Given the description of an element on the screen output the (x, y) to click on. 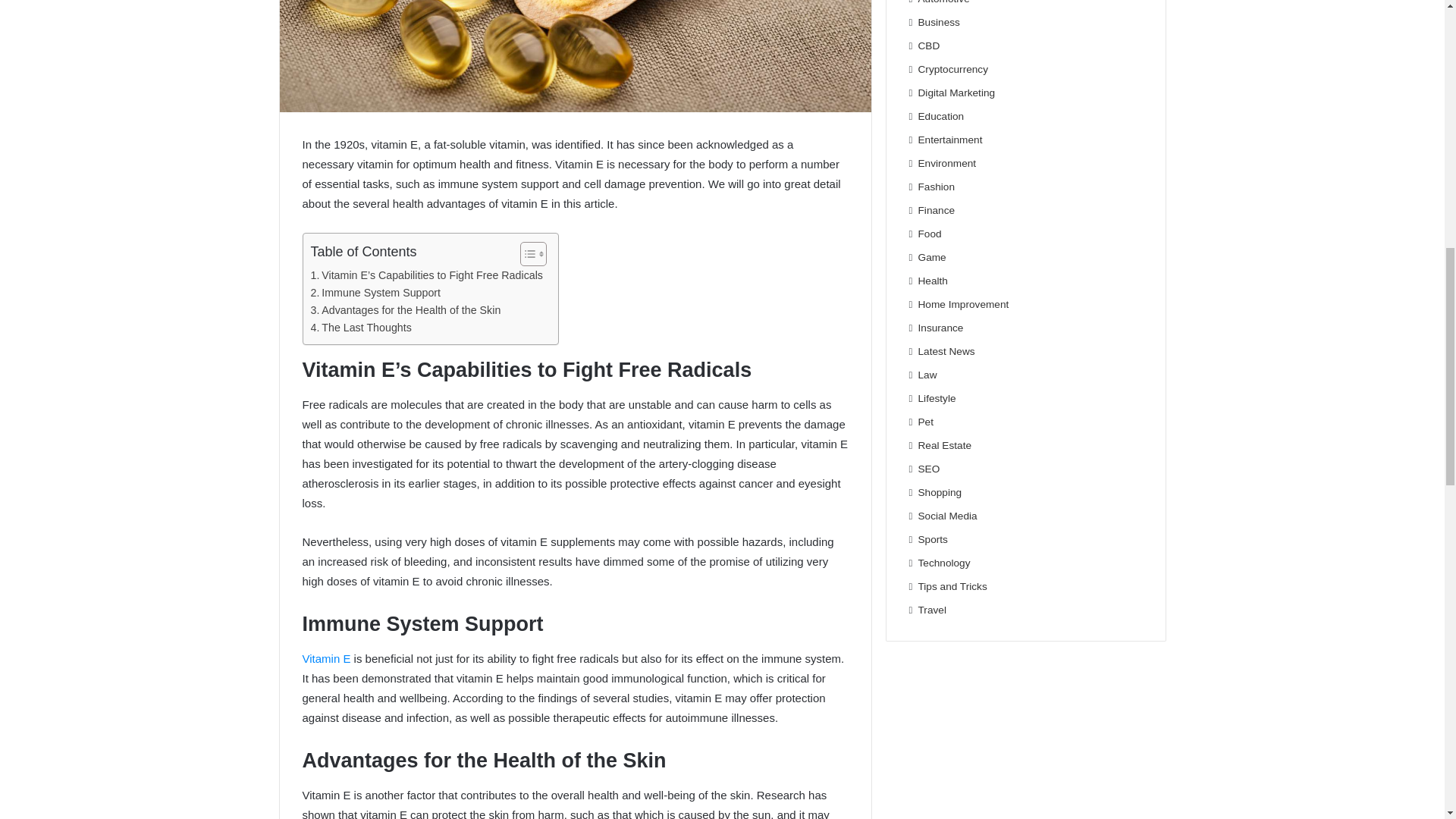
Immune System Support (376, 293)
The Last Thoughts (361, 327)
Immune System Support (376, 293)
Advantages for the Health of the Skin (405, 310)
Advantages for the Health of the Skin (405, 310)
Vitamin E (325, 658)
